Given the description of an element on the screen output the (x, y) to click on. 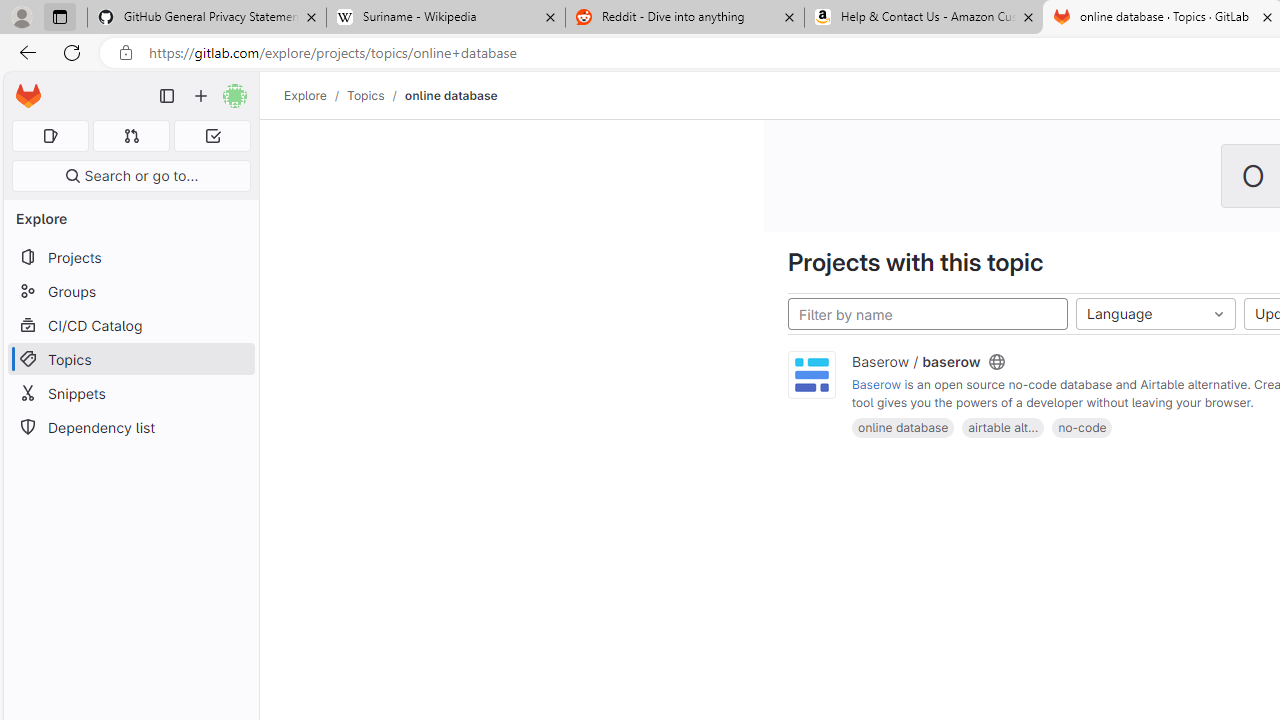
Projects (130, 257)
Groups (130, 291)
Dependency list (130, 427)
Language (1156, 314)
To-Do list 0 (212, 136)
Dependency list (130, 427)
Suriname - Wikipedia (445, 17)
Class: s16 dropdown-menu-toggle-icon (1218, 314)
airtable alt... (1003, 426)
Homepage (27, 96)
Snippets (130, 393)
Topics (365, 95)
Filter by name (927, 314)
